Given the description of an element on the screen output the (x, y) to click on. 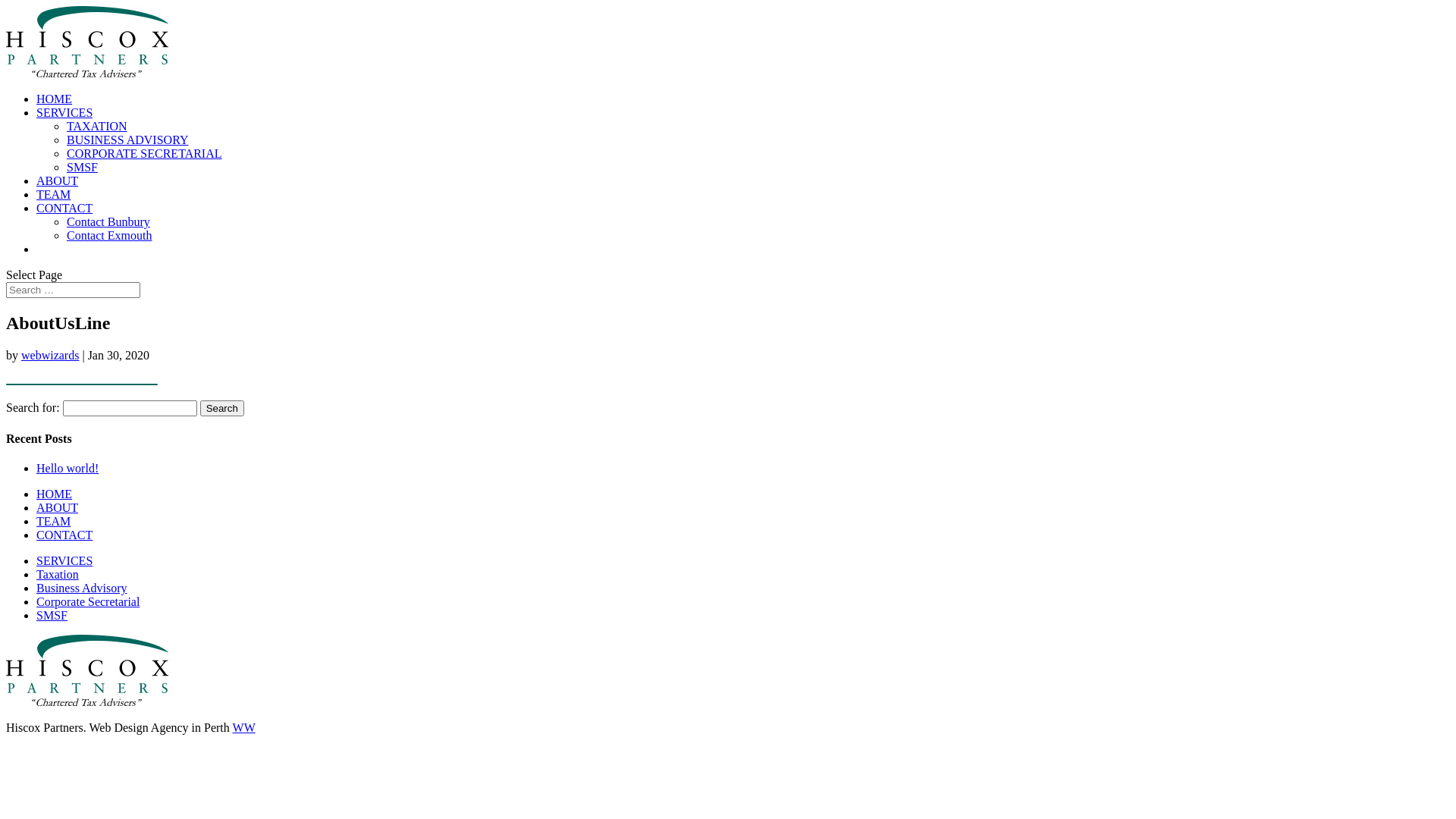
Taxation Element type: text (57, 573)
CONTACT Element type: text (64, 207)
webwizards Element type: text (49, 354)
TEAM Element type: text (53, 194)
Search for: Element type: hover (73, 290)
Corporate Secretarial Element type: text (87, 601)
SMSF Element type: text (81, 166)
Contact Exmouth Element type: text (108, 235)
CONTACT Element type: text (64, 534)
Contact Bunbury Element type: text (108, 221)
TAXATION Element type: text (96, 125)
ABOUT Element type: text (57, 507)
WW Element type: text (243, 727)
HOME Element type: text (54, 98)
CORPORATE SECRETARIAL Element type: text (144, 153)
BUSINESS ADVISORY Element type: text (127, 139)
TEAM Element type: text (53, 520)
Business Advisory Element type: text (81, 587)
SMSF Element type: text (51, 614)
SERVICES Element type: text (64, 112)
ABOUT Element type: text (57, 180)
SERVICES Element type: text (64, 560)
HOME Element type: text (54, 493)
Search Element type: text (222, 408)
Hello world! Element type: text (67, 467)
